Given the description of an element on the screen output the (x, y) to click on. 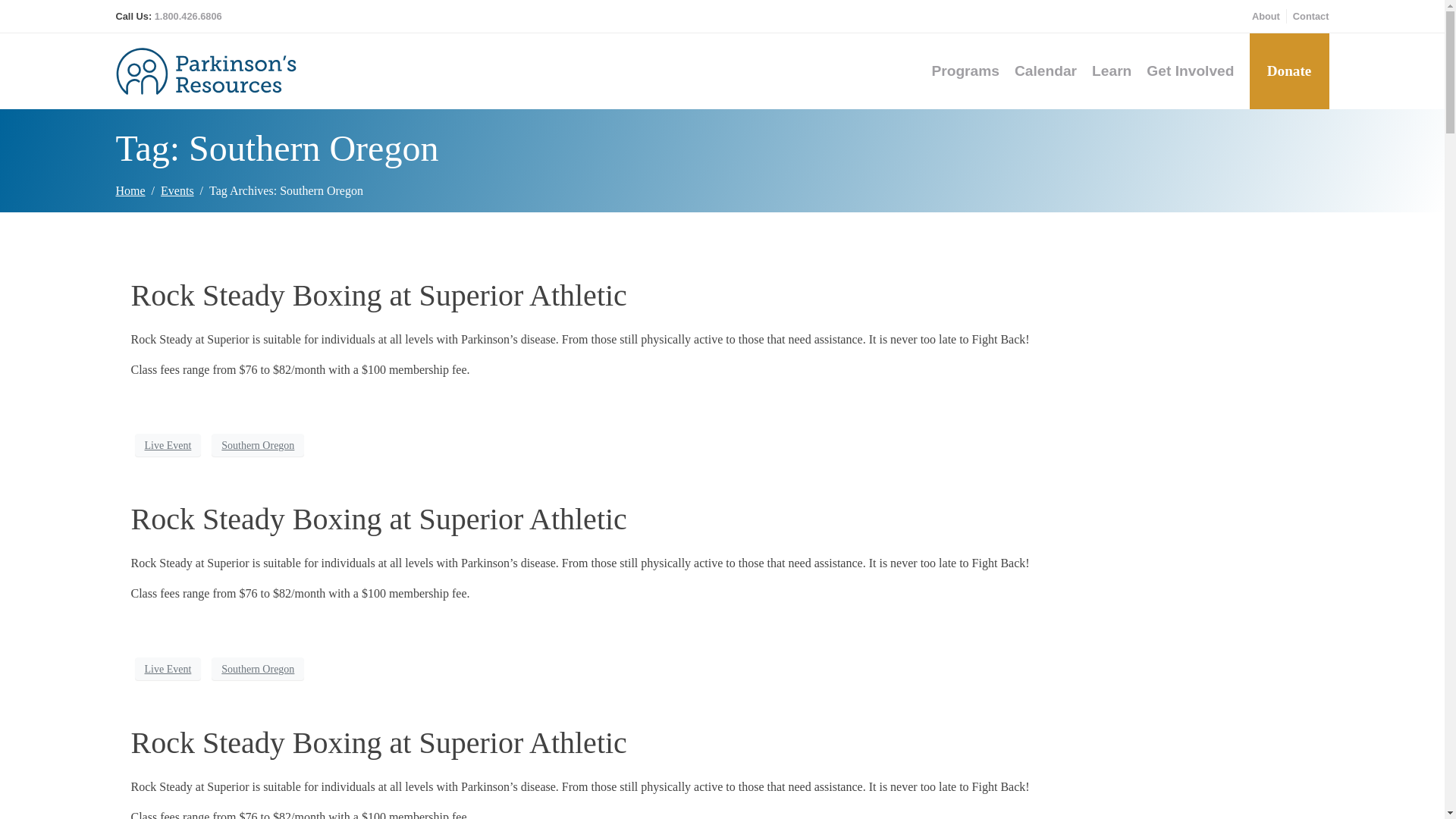
Calendar (1045, 70)
Programs (965, 70)
Rock Steady Boxing at Superior Athletic (378, 742)
About (1265, 16)
Rock Steady Boxing at Superior Athletic (378, 519)
Get Involved (1189, 70)
Rock Steady Boxing at Superior Athletic (378, 295)
1.800.426.6806 (188, 16)
Donate (1285, 70)
Contact (1310, 16)
